Given the description of an element on the screen output the (x, y) to click on. 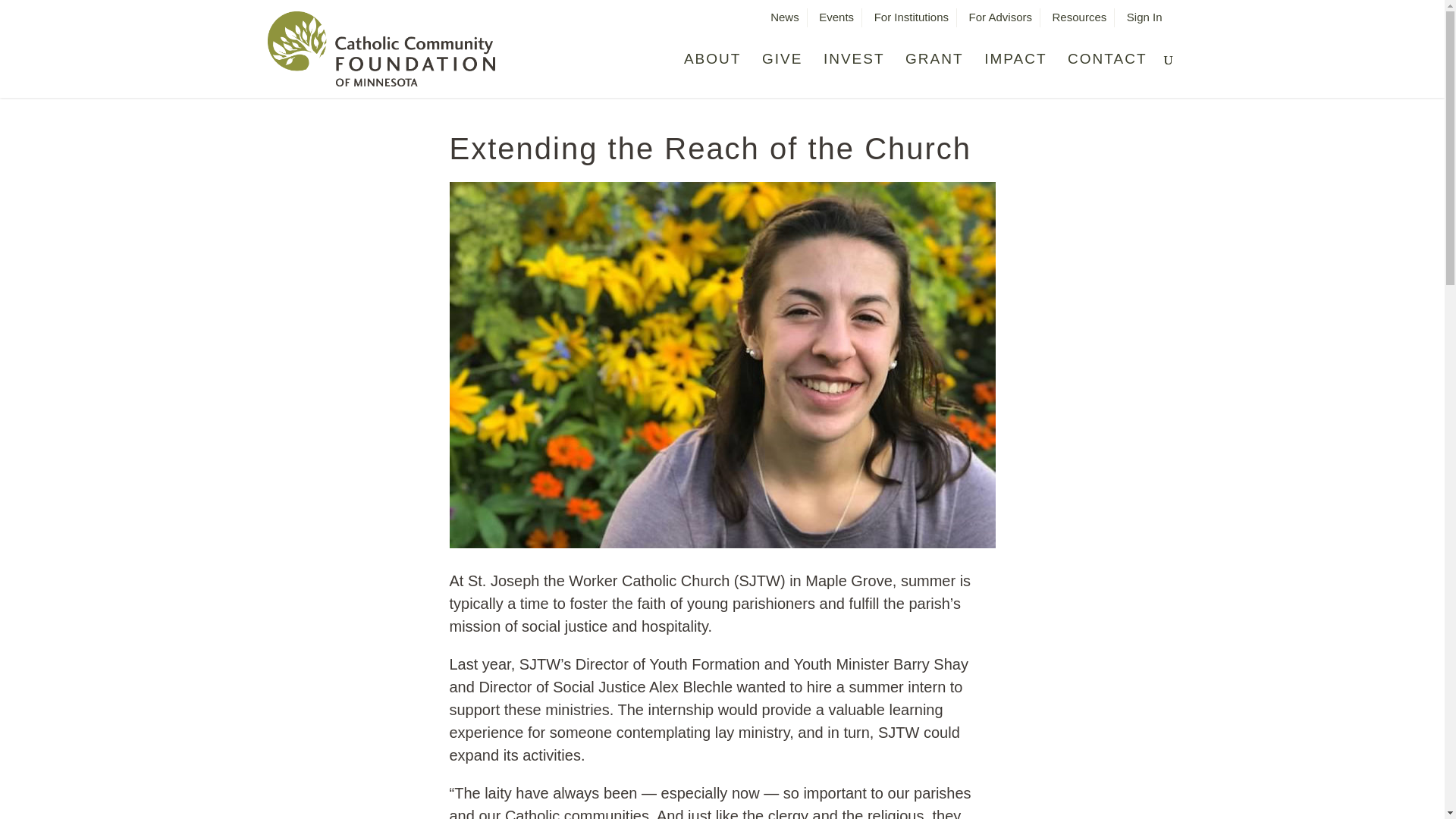
For Institutions (912, 21)
Events (835, 21)
For Advisors (1000, 21)
IMPACT (1015, 70)
Resources (1079, 21)
INVEST (854, 70)
CONTACT (1107, 70)
GRANT (934, 70)
News (784, 21)
GIVE (781, 70)
Sign In (1143, 21)
ABOUT (712, 70)
